Given the description of an element on the screen output the (x, y) to click on. 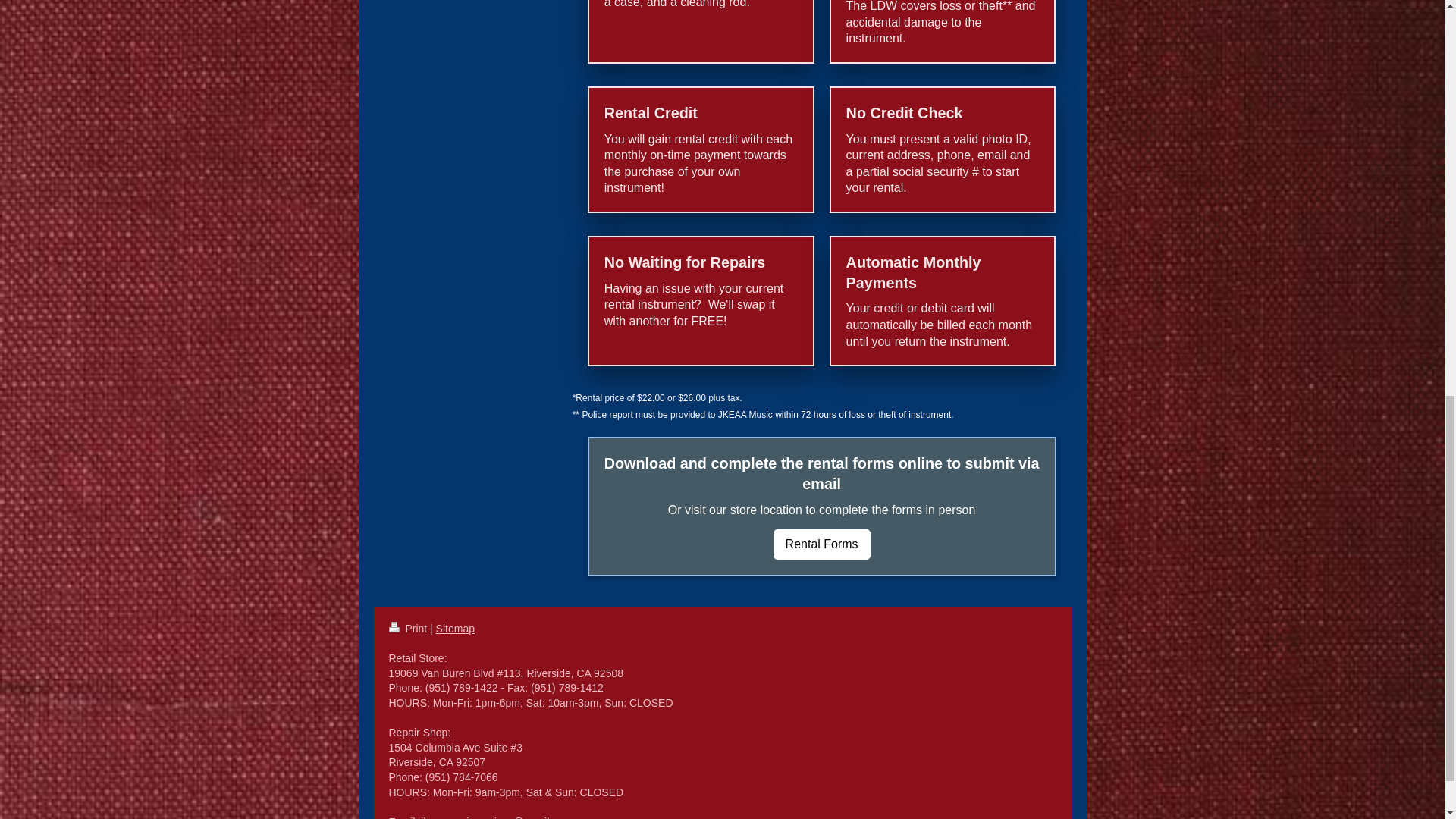
Rental Forms (821, 544)
